Given the description of an element on the screen output the (x, y) to click on. 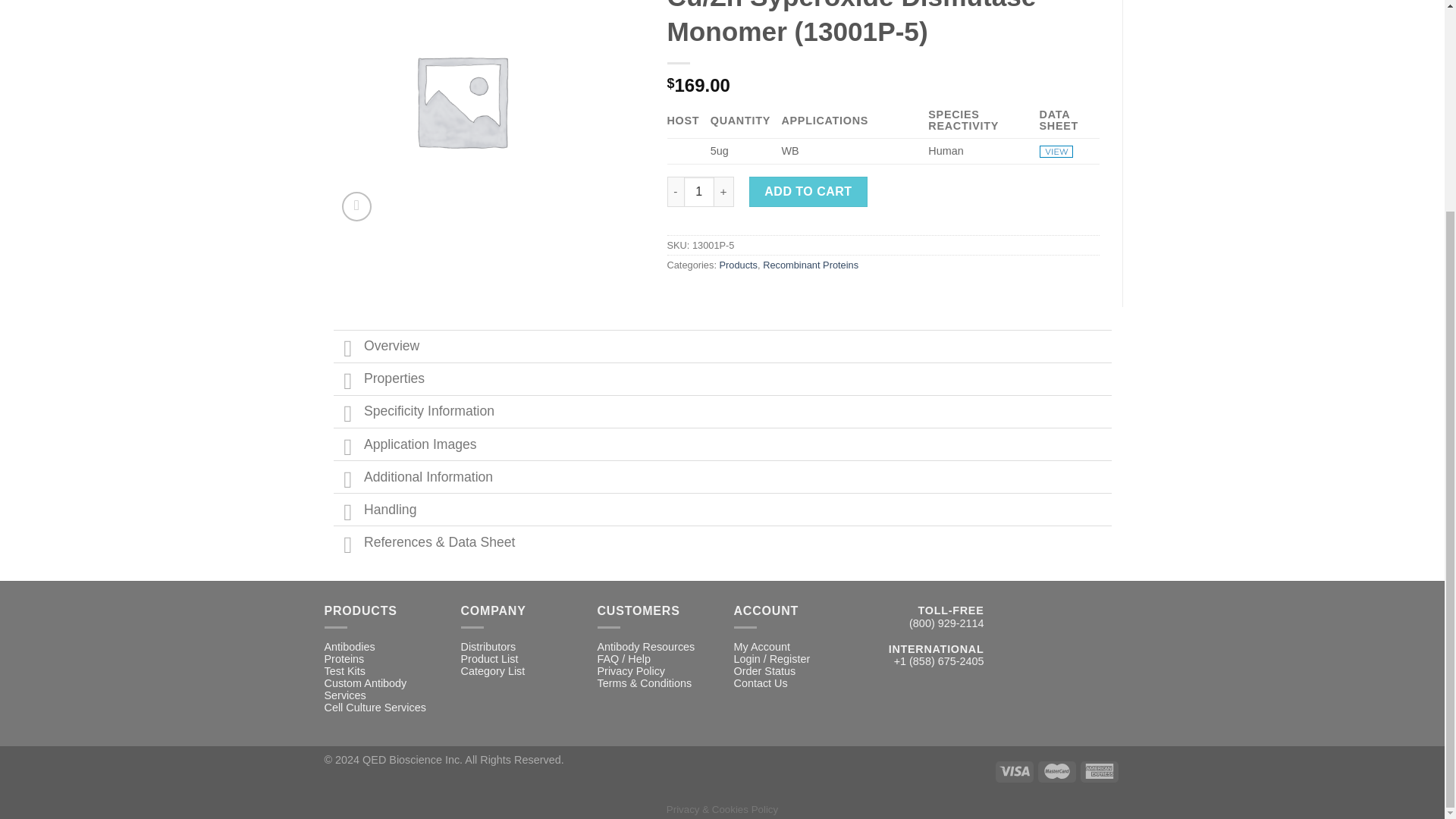
Qty (699, 191)
1 (699, 191)
Zoom (356, 206)
